Given the description of an element on the screen output the (x, y) to click on. 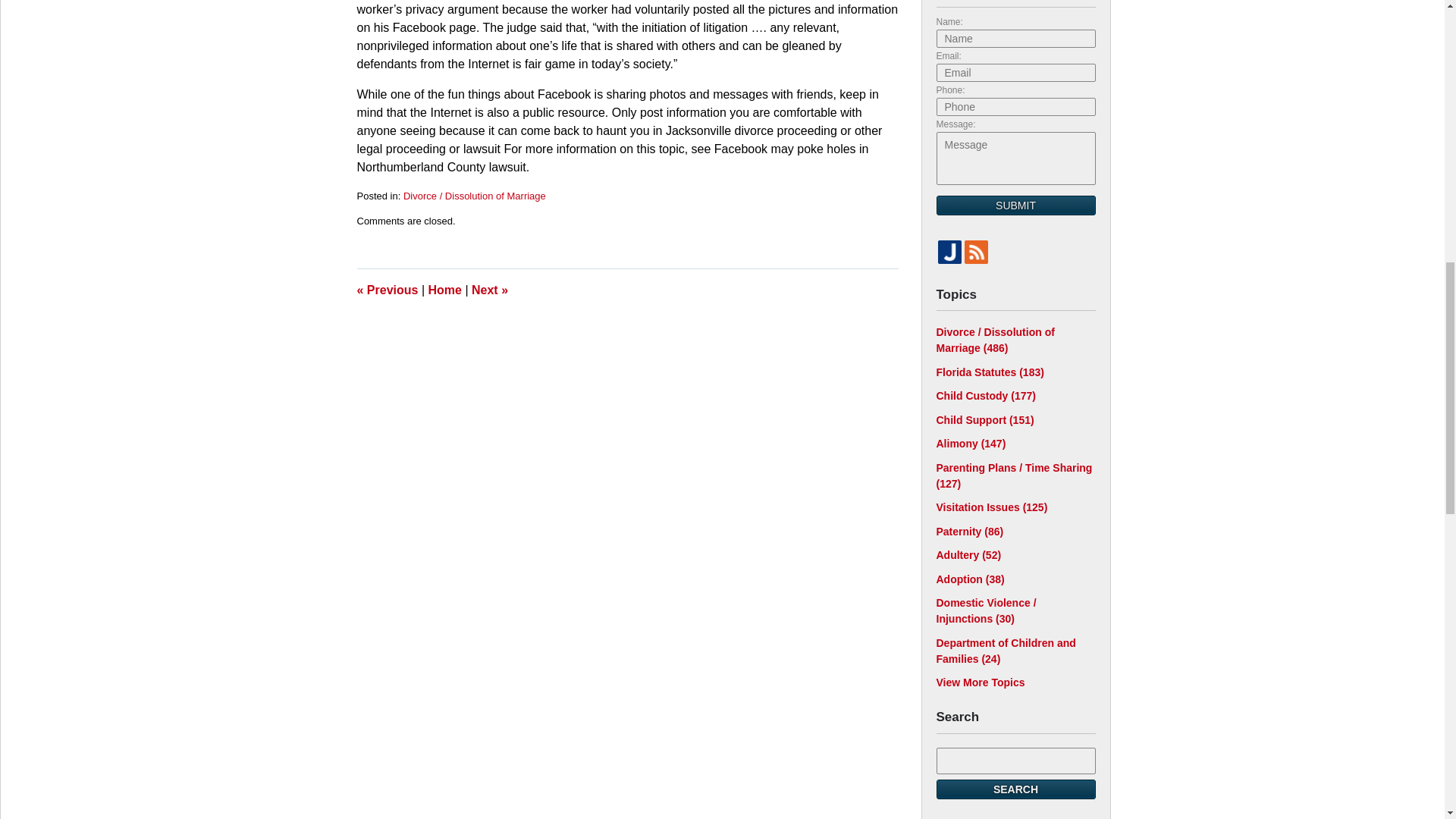
Home (444, 289)
What Constitutes Grounds for Annulment in Florida? (386, 289)
SUBMIT (1015, 205)
Justia (949, 250)
Feed (976, 250)
Please enter a valid phone number. (1015, 106)
